Given the description of an element on the screen output the (x, y) to click on. 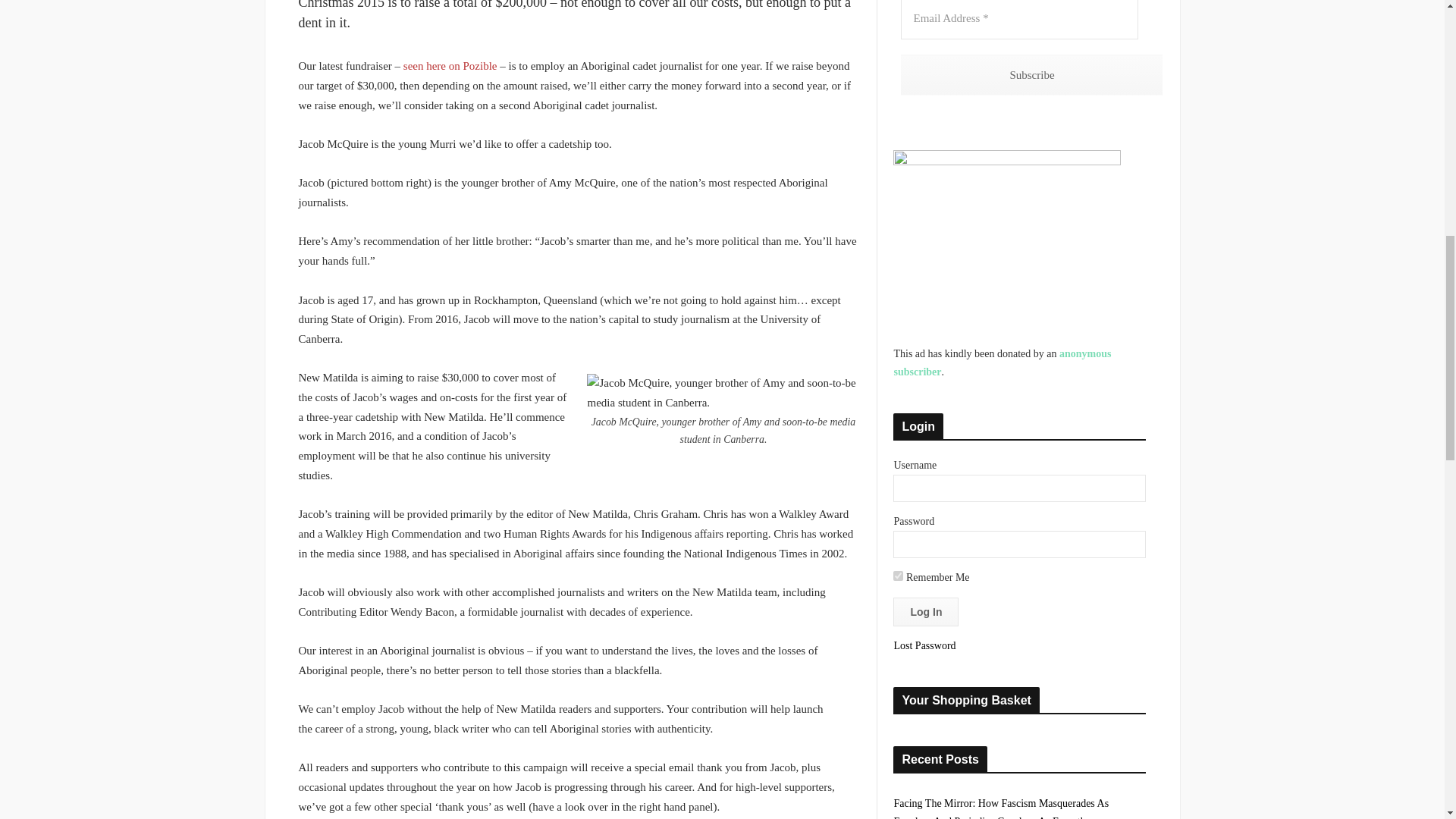
Subscribe (1031, 75)
seen here on Pozible (450, 65)
Log In (925, 611)
forever (897, 575)
